Given the description of an element on the screen output the (x, y) to click on. 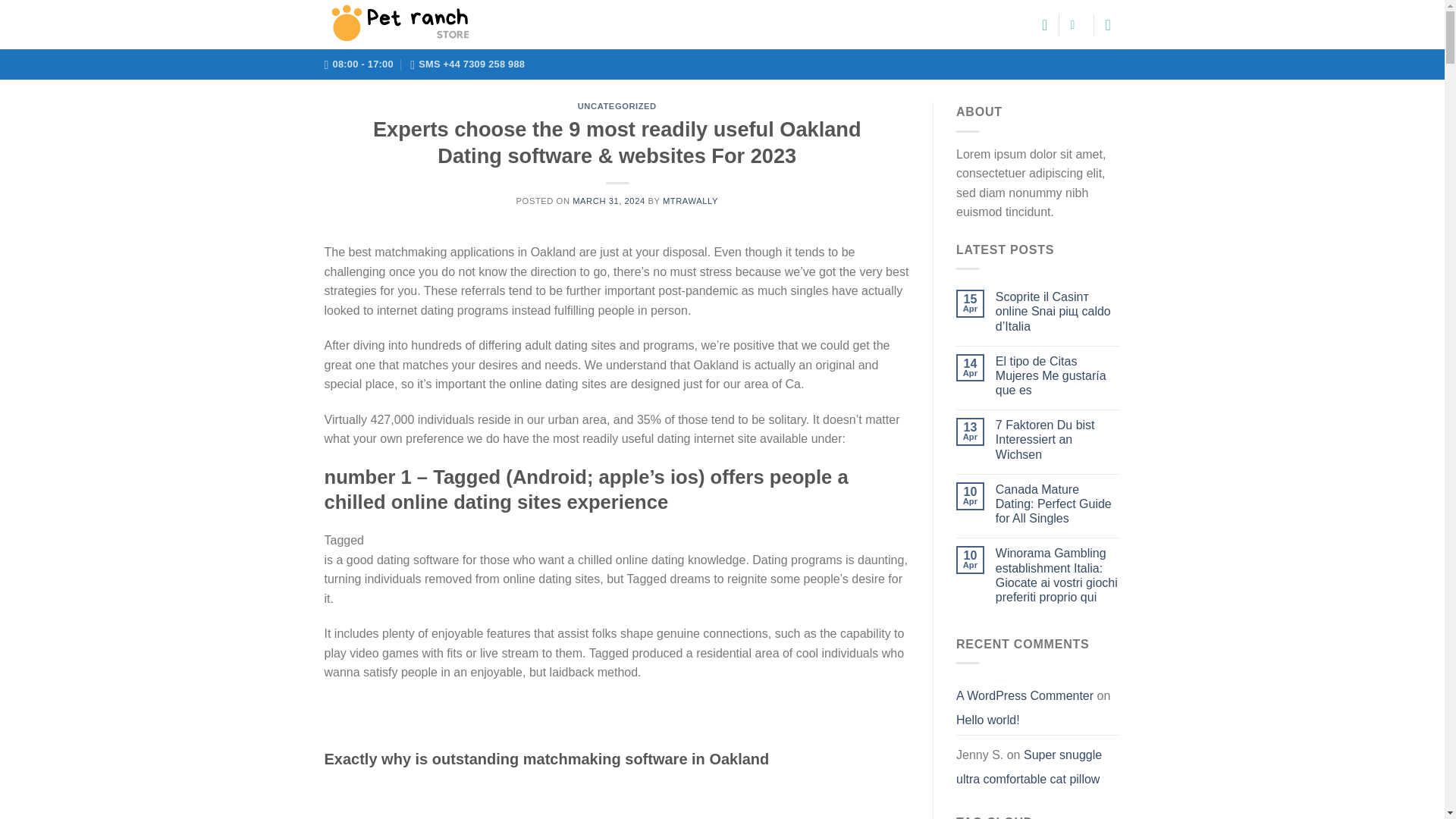
08:00 - 17:00 (358, 64)
MTRAWALLY (689, 200)
Cart (1113, 23)
Canada Mature Dating: Perfect Guide for All Singles (1058, 504)
7 Faktoren Du bist Interessiert an Wichsen (1058, 439)
7 Faktoren Du bist Interessiert an Wichsen (1058, 439)
UNCATEGORIZED (617, 105)
MARCH 31, 2024 (608, 200)
Super snuggle ultra comfortable cat pillow (1029, 766)
A WordPress Commenter (1024, 695)
Pet ranch store - Only the best products for your pets (400, 24)
Canada Mature Dating: Perfect Guide for All Singles (1058, 504)
Hello world! (988, 720)
08:00 - 17:00  (358, 64)
